Given the description of an element on the screen output the (x, y) to click on. 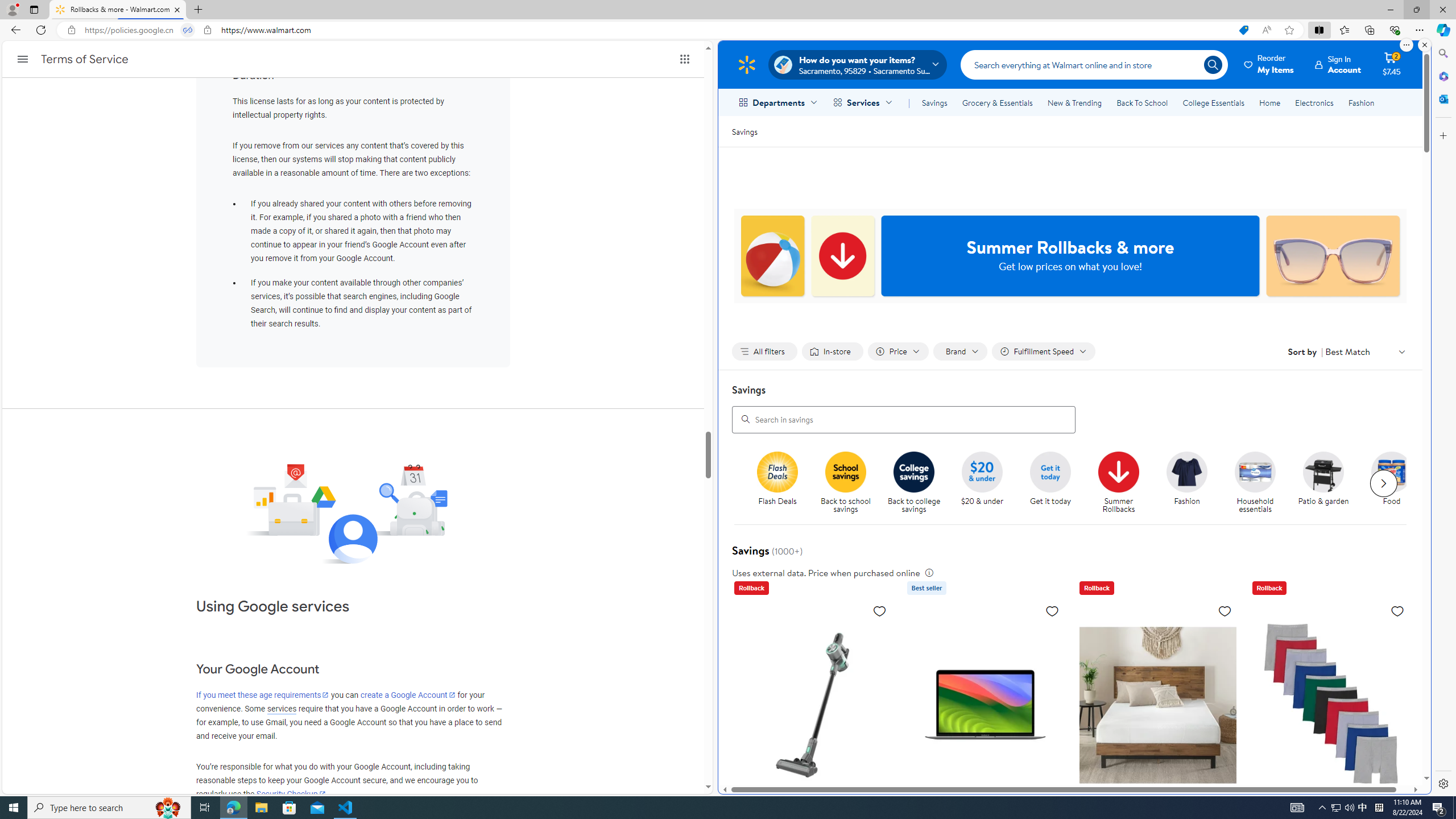
Walmart Homepage (746, 64)
Summer Rollbacks (1117, 471)
Fashion (1186, 471)
Filter by Fulfillment Speed not applied, activate to change (1043, 351)
Sign InAccount (1338, 64)
Savings (744, 131)
Rollbacks & more - Walmart.com (117, 9)
$20 and under (982, 471)
